Given the description of an element on the screen output the (x, y) to click on. 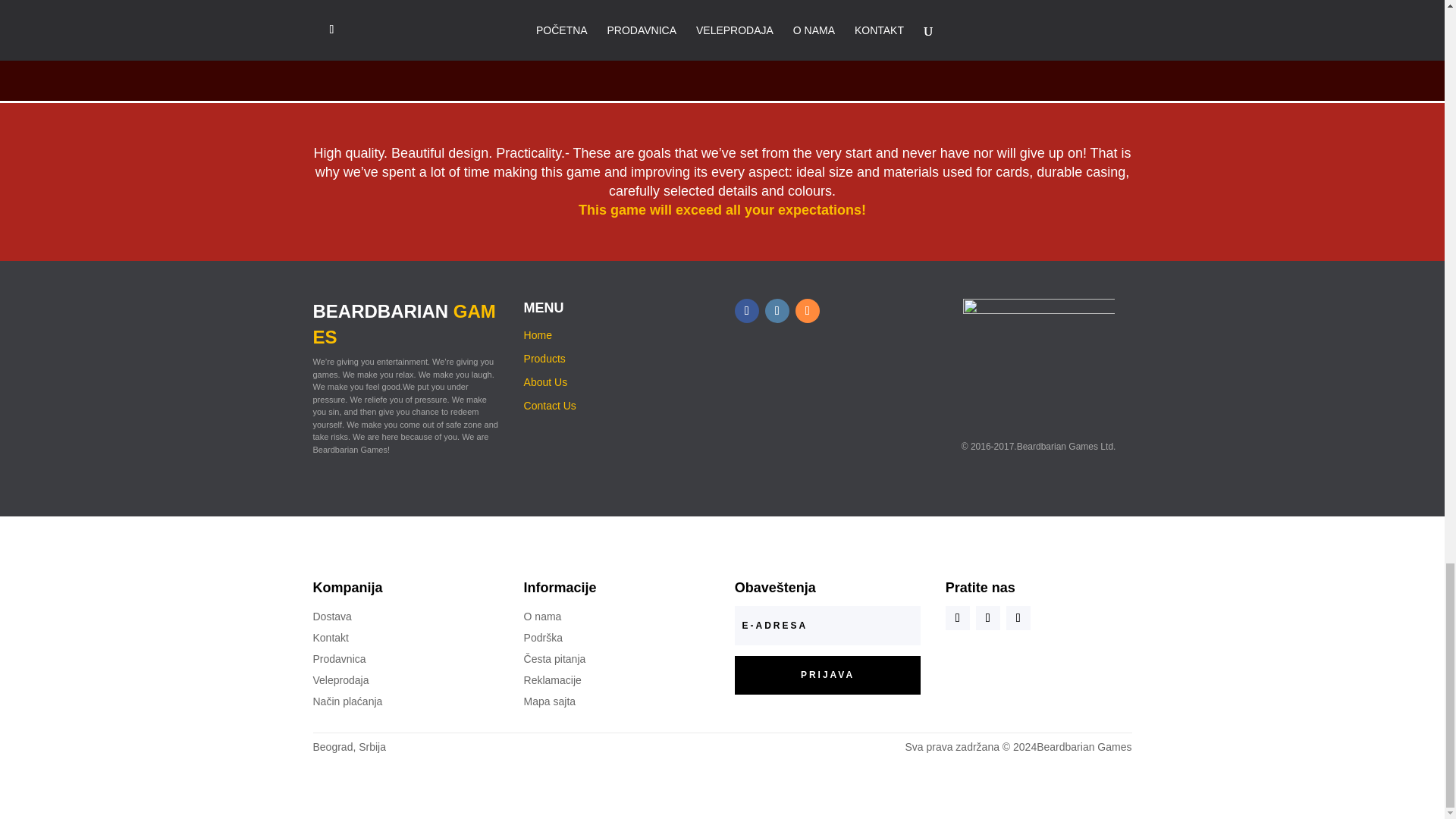
Reklamacije (552, 680)
Dostava (331, 616)
Veleprodaja (340, 680)
Pratite Facebook (746, 310)
Kontakt (330, 637)
Products (545, 358)
Mapa sajta (549, 701)
Pratite Youtube (1018, 617)
Pratite Iks (987, 617)
Prodavnica (339, 658)
